Given the description of an element on the screen output the (x, y) to click on. 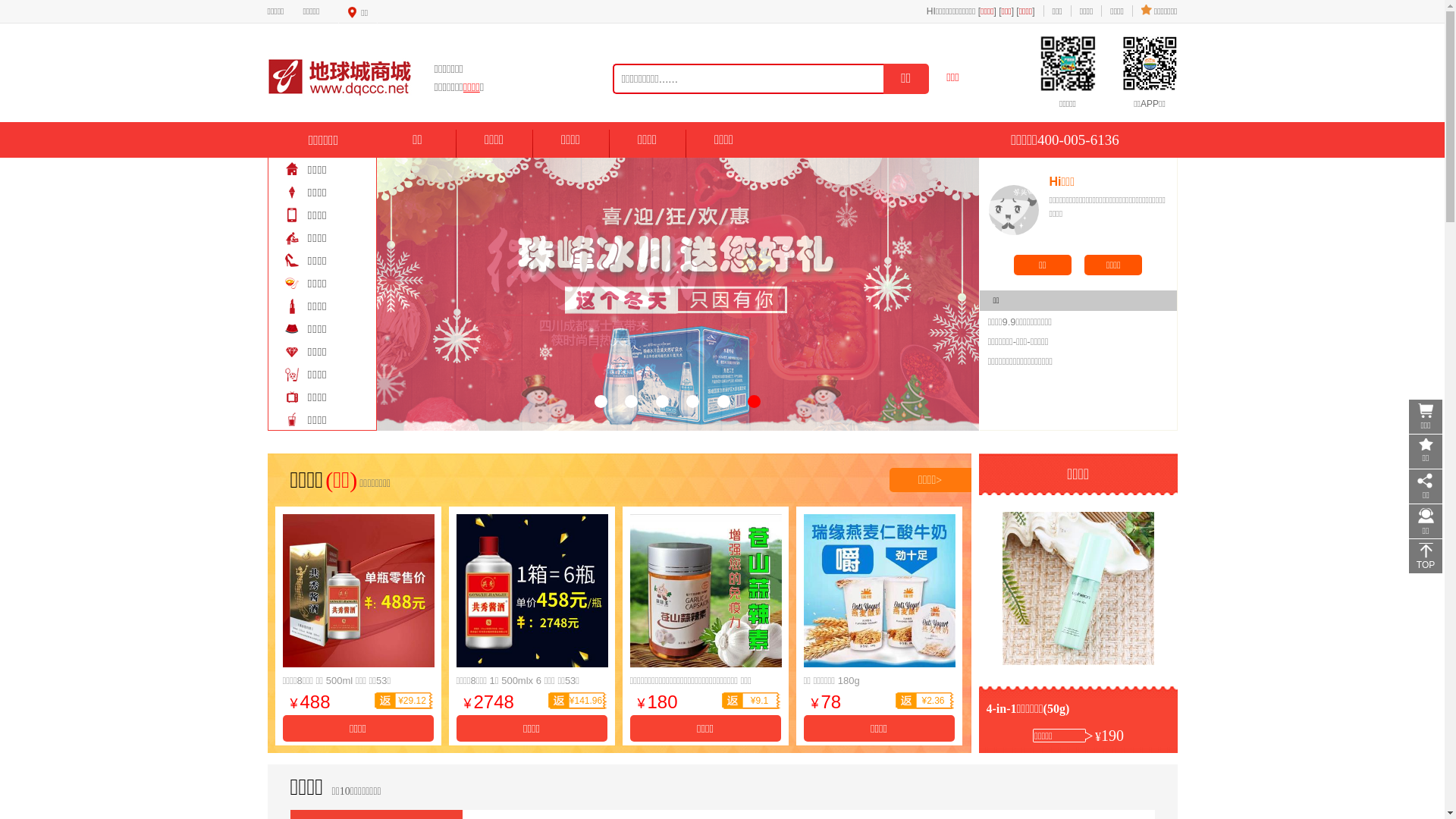
TOP Element type: text (1425, 556)
